Given the description of an element on the screen output the (x, y) to click on. 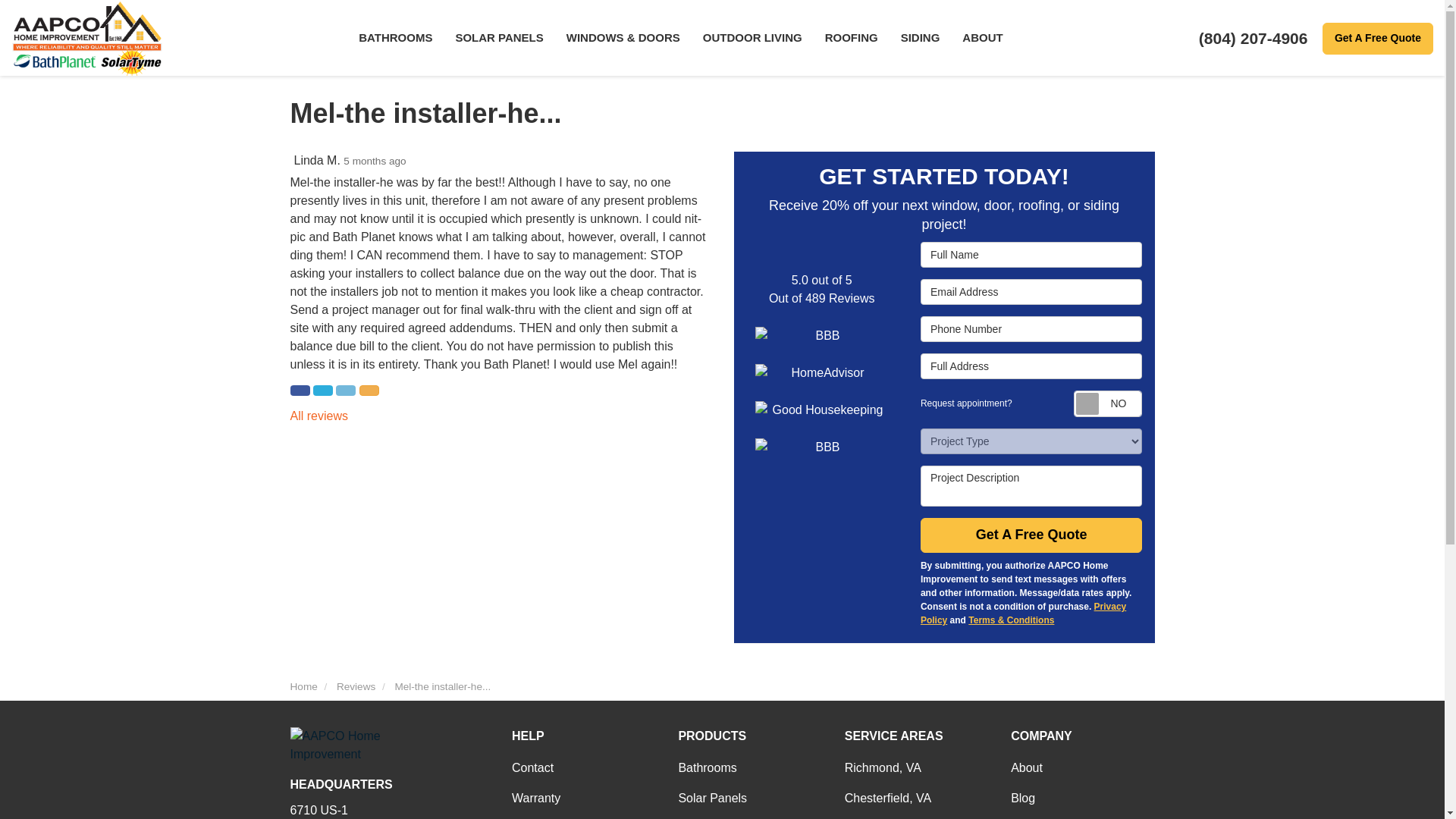
Get A Free Quote (1377, 38)
ROOFING (851, 38)
BATHROOMS (395, 38)
SOLAR PANELS (499, 38)
Get A Free Quote (1377, 38)
OUTDOOR LIVING (752, 38)
